Given the description of an element on the screen output the (x, y) to click on. 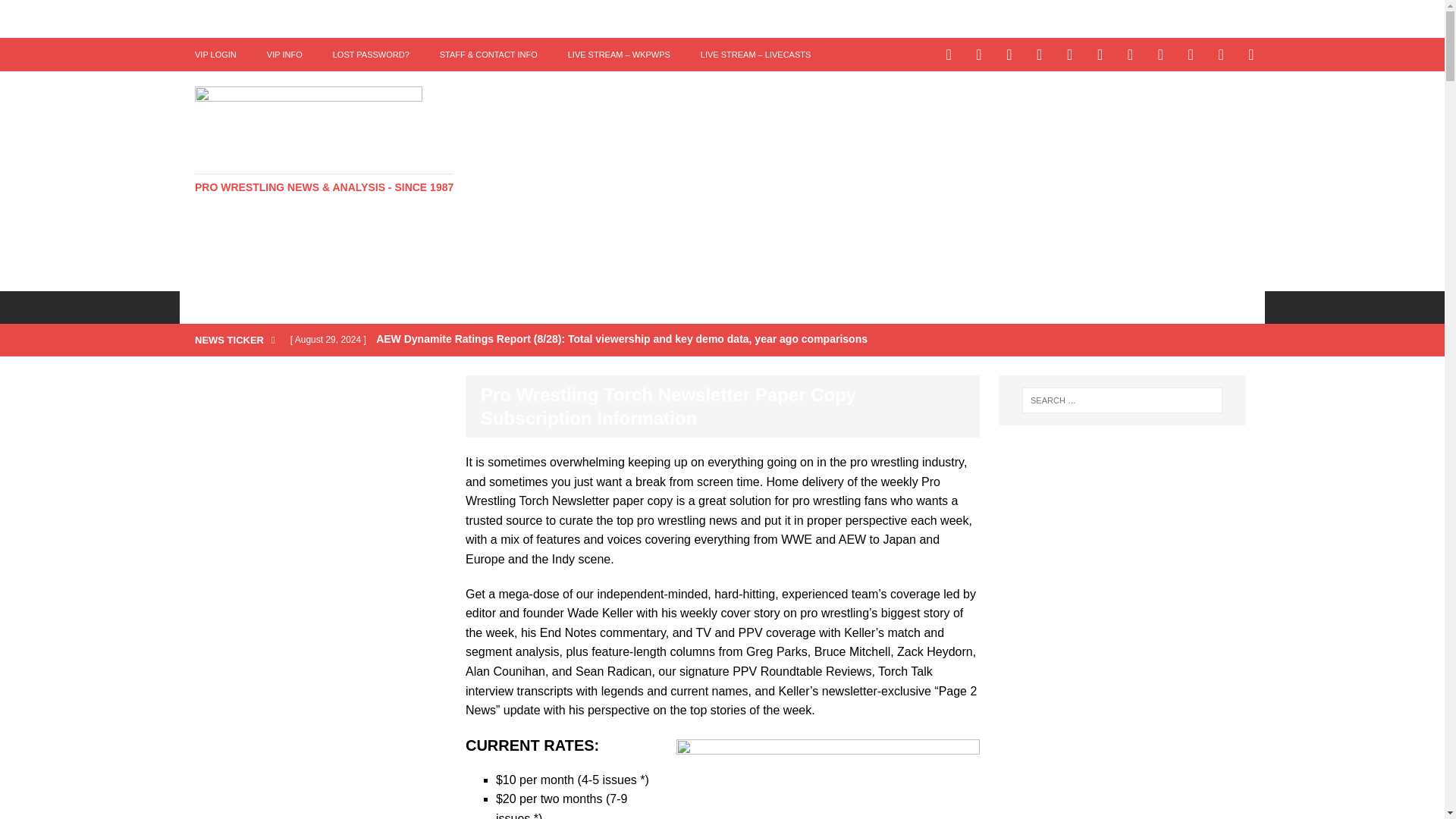
VIP INFO (284, 54)
NEWS (272, 306)
LOST PASSWORD? (371, 54)
HOME (210, 306)
VIP LOGIN (215, 54)
